Given the description of an element on the screen output the (x, y) to click on. 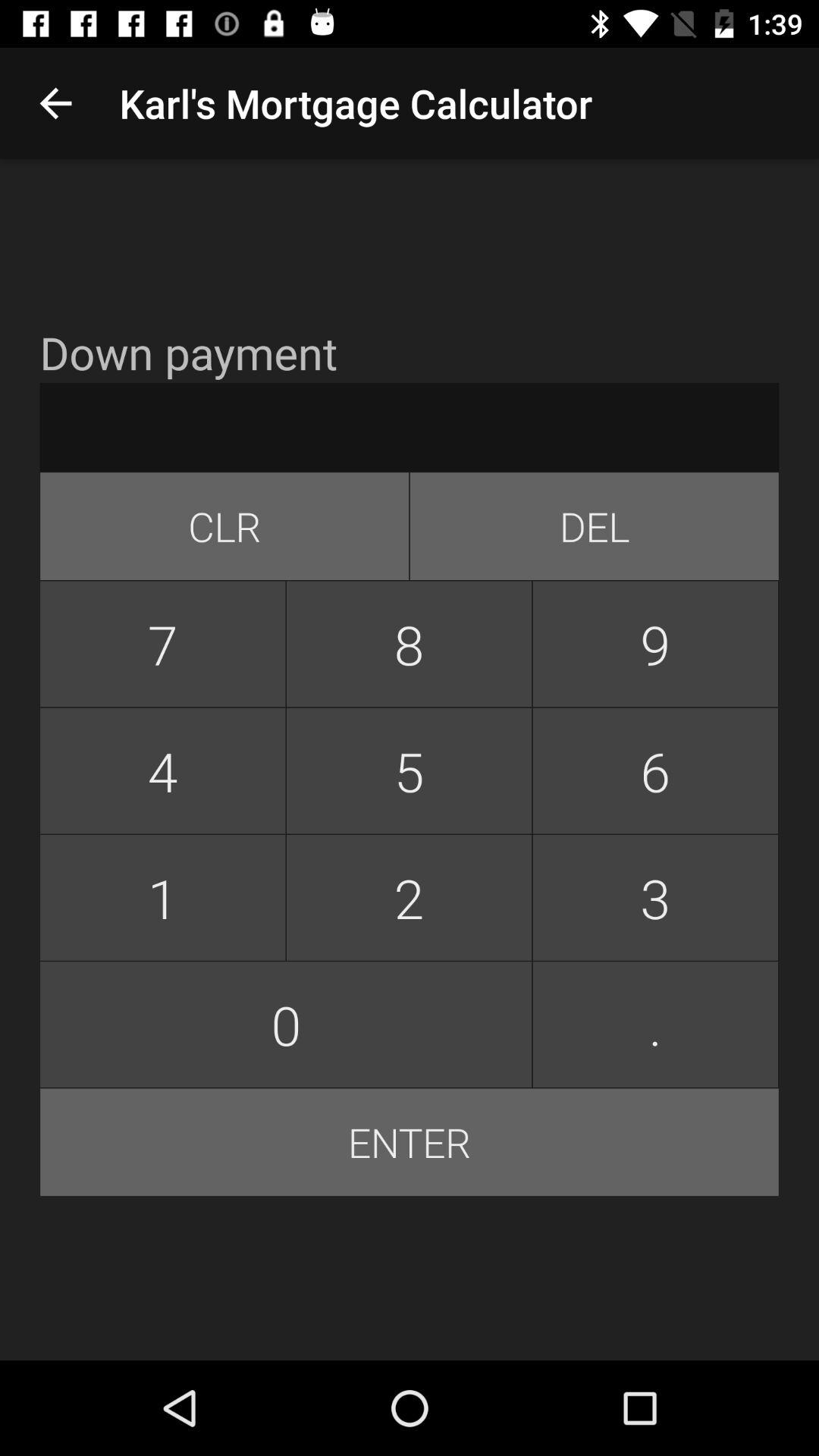
press app next to karl s mortgage app (55, 103)
